Given the description of an element on the screen output the (x, y) to click on. 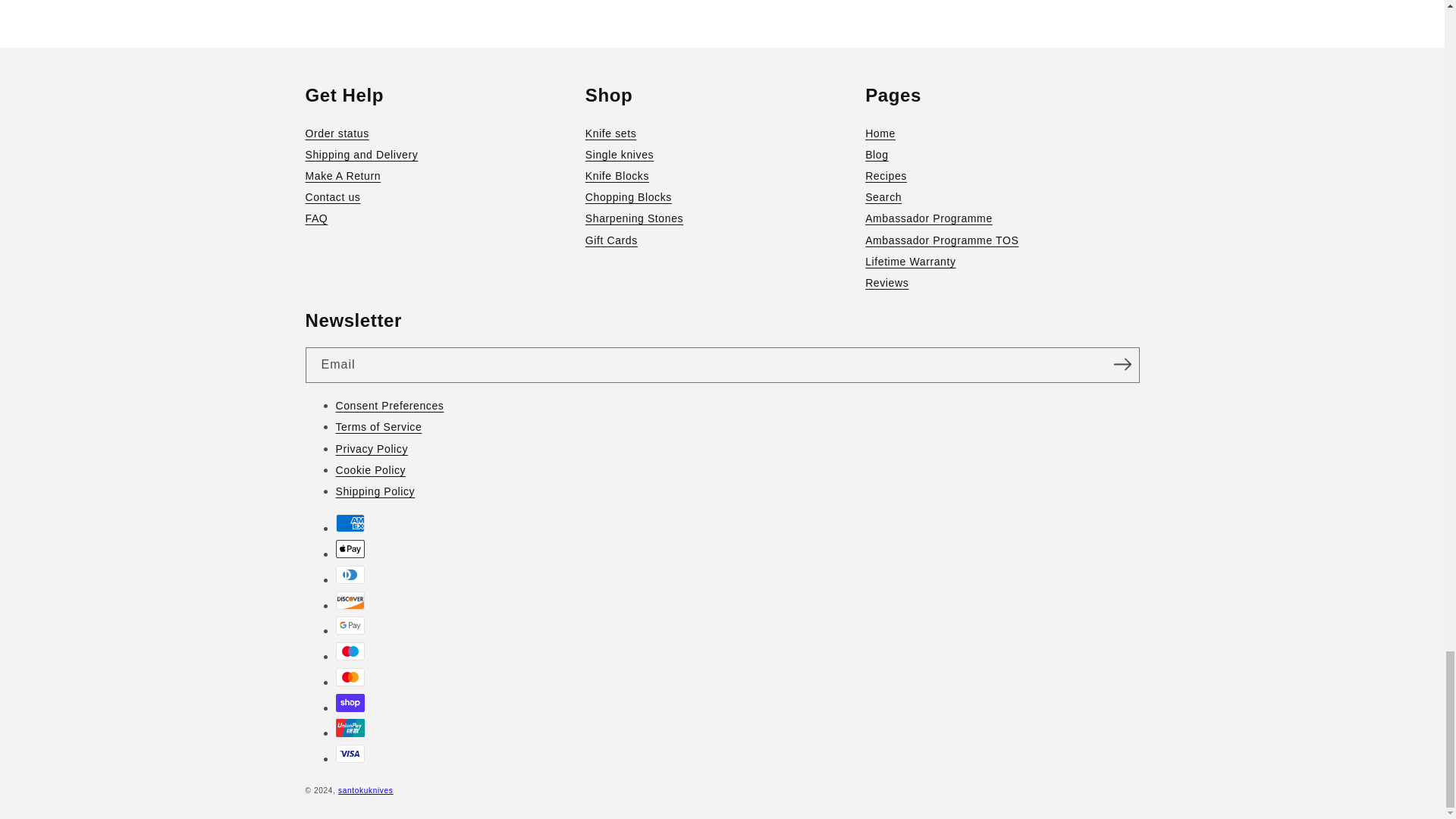
Privacy Policy (736, 448)
Maestro (349, 651)
American Express (349, 523)
Terms of Service (736, 426)
Shipping Policy (736, 491)
Visa (349, 753)
Union Pay (349, 728)
Cookie Policy (736, 469)
Diners Club (349, 574)
Google Pay (349, 625)
